Given the description of an element on the screen output the (x, y) to click on. 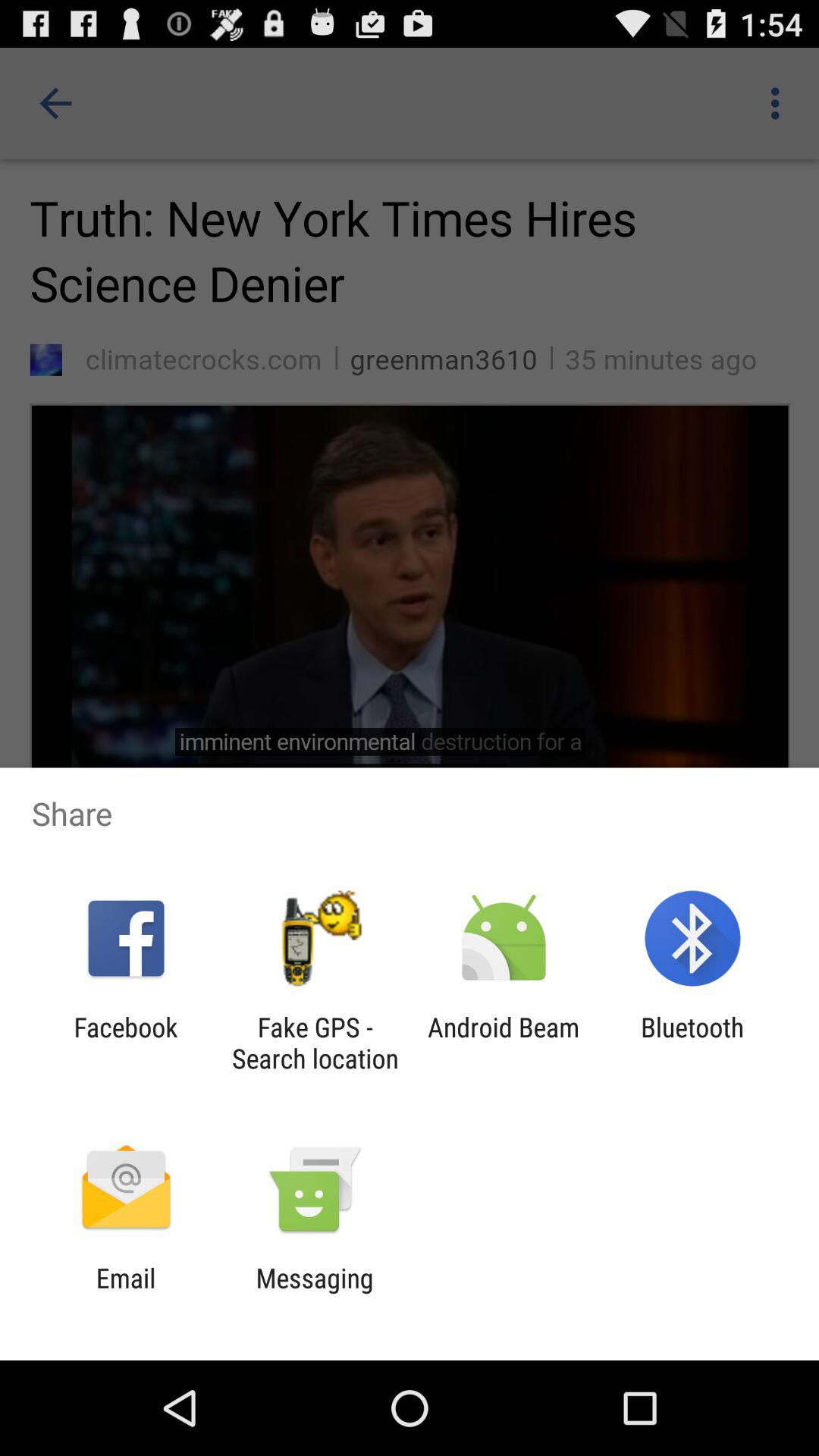
turn on app to the right of the fake gps search item (503, 1042)
